Given the description of an element on the screen output the (x, y) to click on. 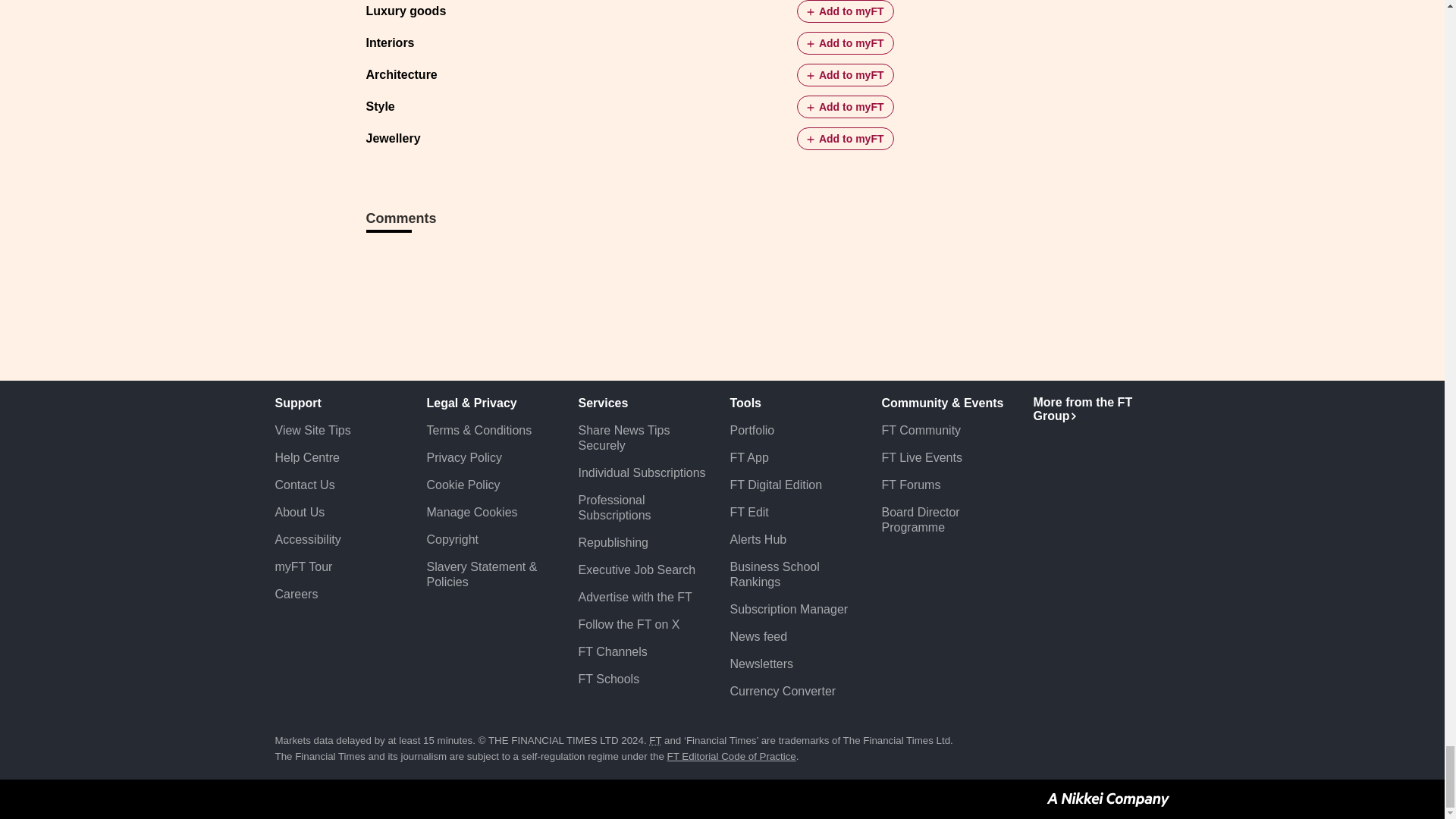
Add Style to myFT (844, 106)
Add Interiors to myFT (844, 42)
Add Luxury goods to myFT (844, 11)
Add Architecture to myFT (844, 74)
